Given the description of an element on the screen output the (x, y) to click on. 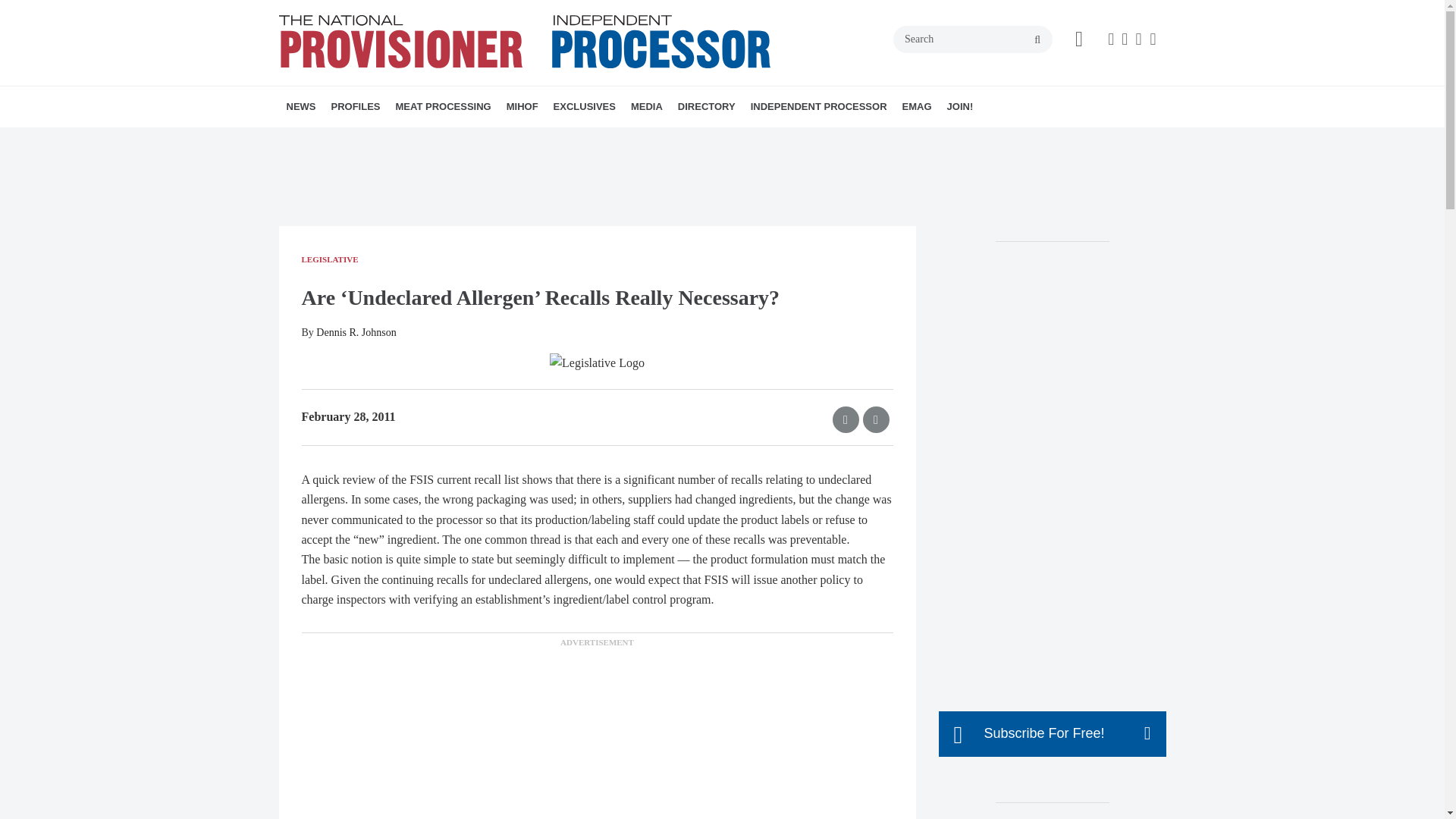
FOOD SAFETY (509, 139)
COMMENTARY (516, 139)
Search (972, 39)
ENEWSLETTERS (640, 139)
TOP 100 PROCESSORS (430, 139)
SUSTAINABILITY (483, 139)
EVENTS (647, 139)
RECALLS (391, 139)
PROCESSOR OF THE YEAR (424, 139)
INGREDIENTS (500, 139)
PROCESSING (489, 139)
PROCESSOR PROFILES (417, 139)
MIHOF (522, 106)
MEAT PROCESSING (443, 106)
INDUSTRY NEWS (373, 139)
